Given the description of an element on the screen output the (x, y) to click on. 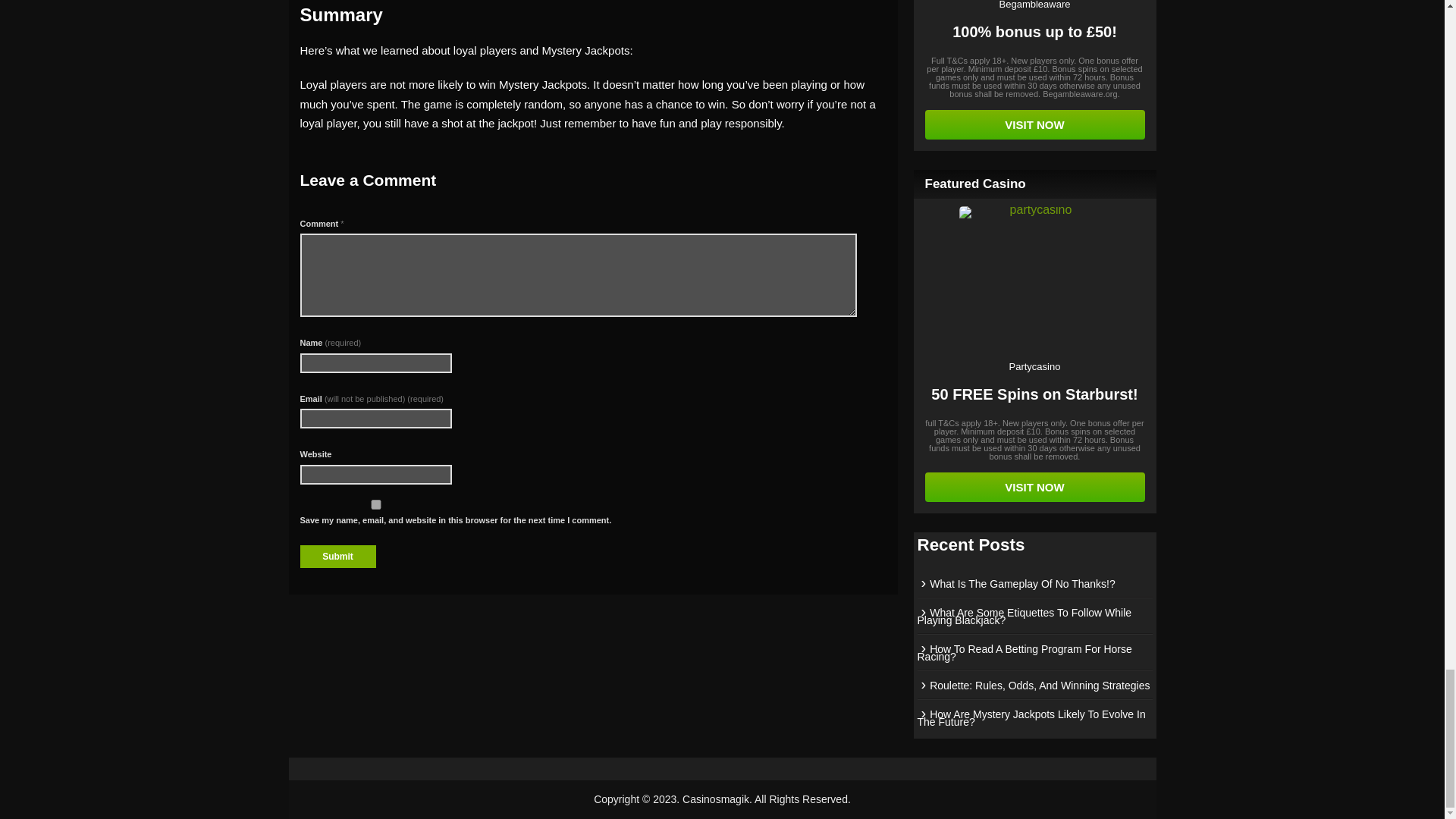
yes (375, 504)
Submit (337, 556)
Submit (337, 556)
